Given the description of an element on the screen output the (x, y) to click on. 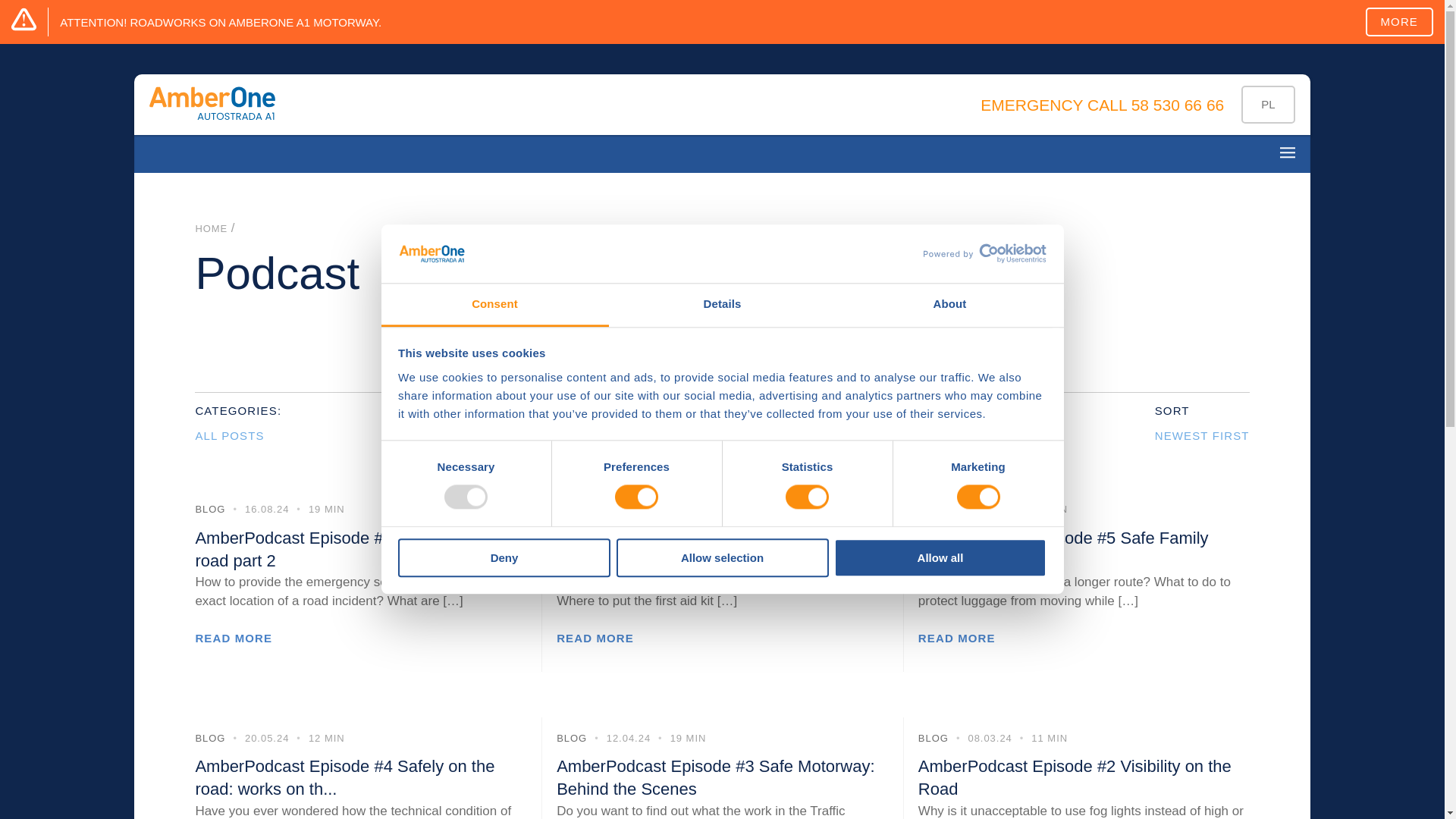
ATTENTION! ROADWORKS ON AMBERONE A1 MOTORWAY. (220, 21)
Consent (494, 304)
Deny (503, 557)
Allow all (940, 557)
Allow selection (721, 557)
About (948, 304)
Details (721, 304)
